Given the description of an element on the screen output the (x, y) to click on. 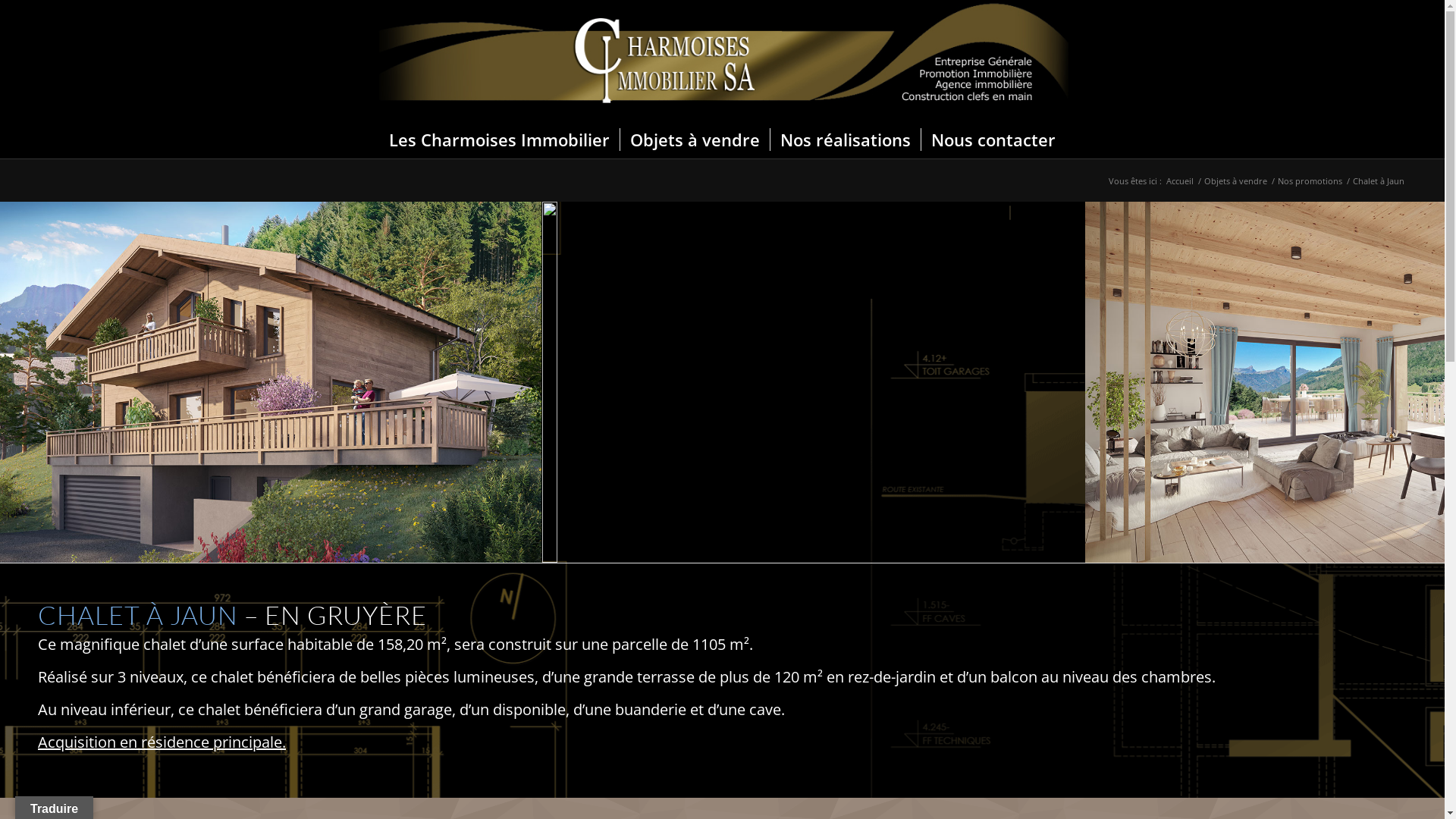
Les Charmoises Immobilier Element type: text (499, 139)
Nos promotions Element type: text (1309, 180)
Accueil Element type: text (1179, 180)
fond-logo Element type: hover (721, 60)
fond-logo Element type: hover (721, 53)
Nous contacter Element type: text (992, 139)
